Given the description of an element on the screen output the (x, y) to click on. 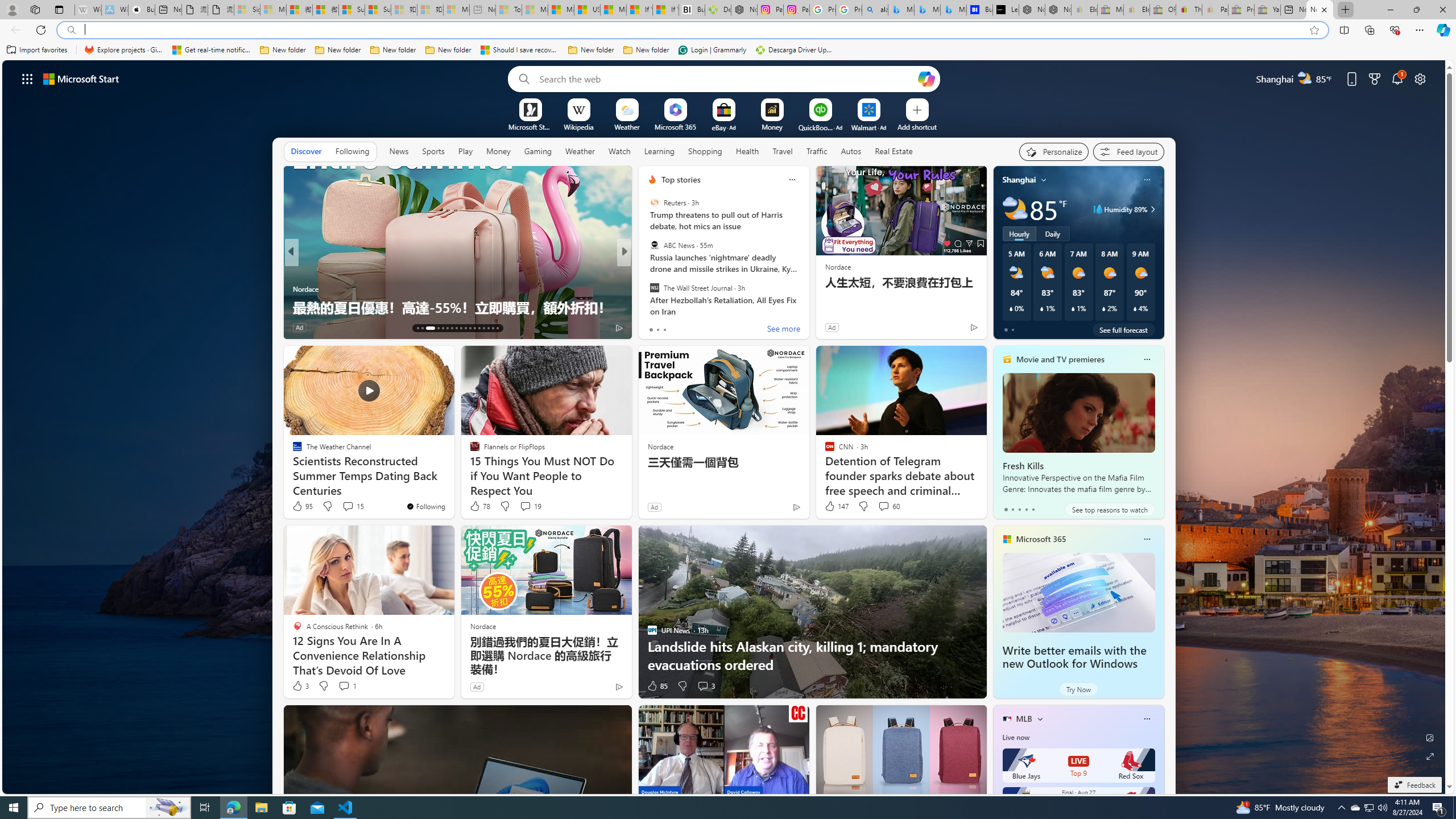
Learning (658, 151)
Health (746, 151)
Food Republic (647, 270)
tab-0 (1005, 509)
Network Products (807, 307)
Microsoft Bing Travel - Shangri-La Hotel Bangkok (953, 9)
Tasting Table (647, 270)
Marine life - MSN - Sleeping (534, 9)
